Given the description of an element on the screen output the (x, y) to click on. 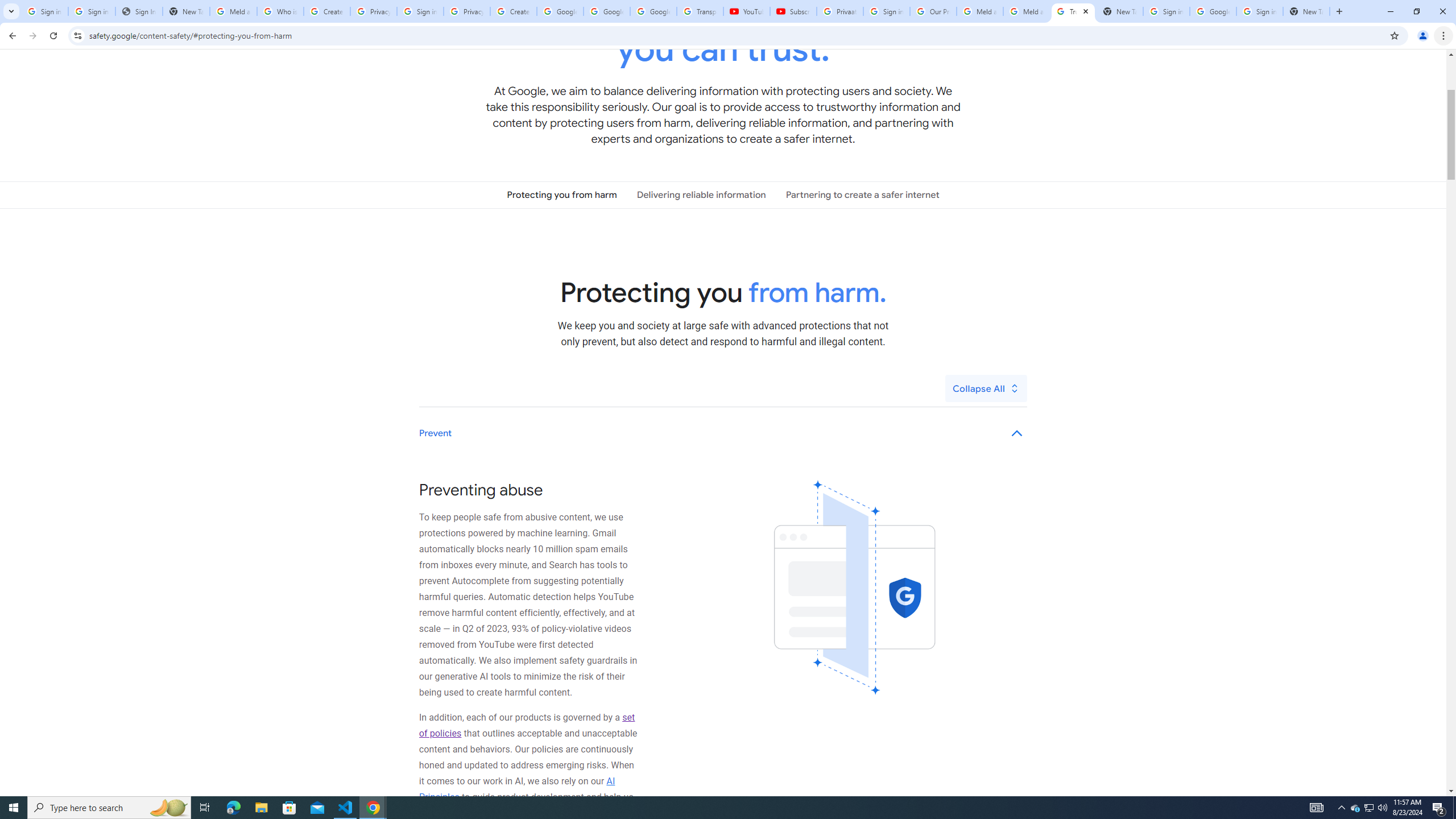
Sign in - Google Accounts (44, 11)
Create your Google Account (326, 11)
Sign In - USA TODAY (138, 11)
Create your Google Account (512, 11)
Collapse All (985, 388)
set of policies (526, 724)
Subscriptions - YouTube (792, 11)
